Given the description of an element on the screen output the (x, y) to click on. 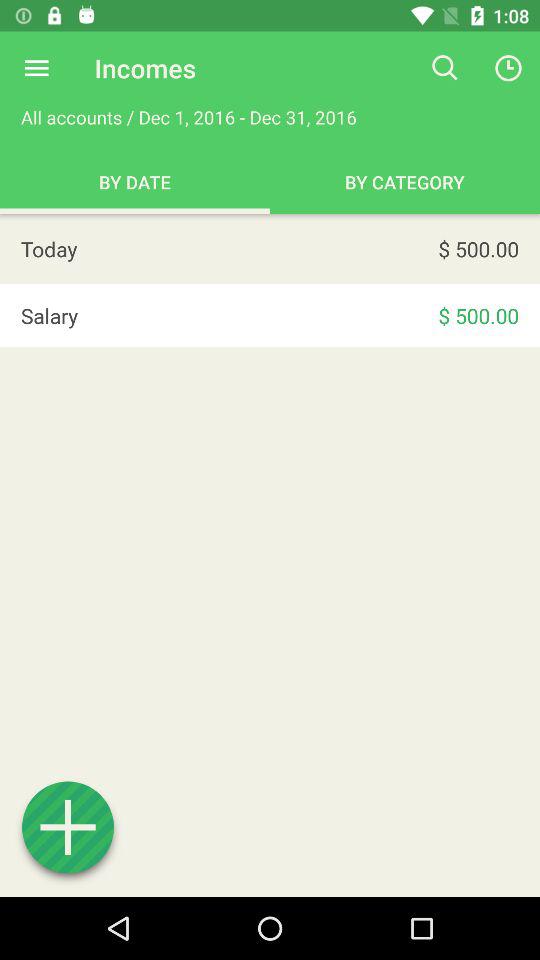
click app above the all accounts dec item (36, 68)
